Given the description of an element on the screen output the (x, y) to click on. 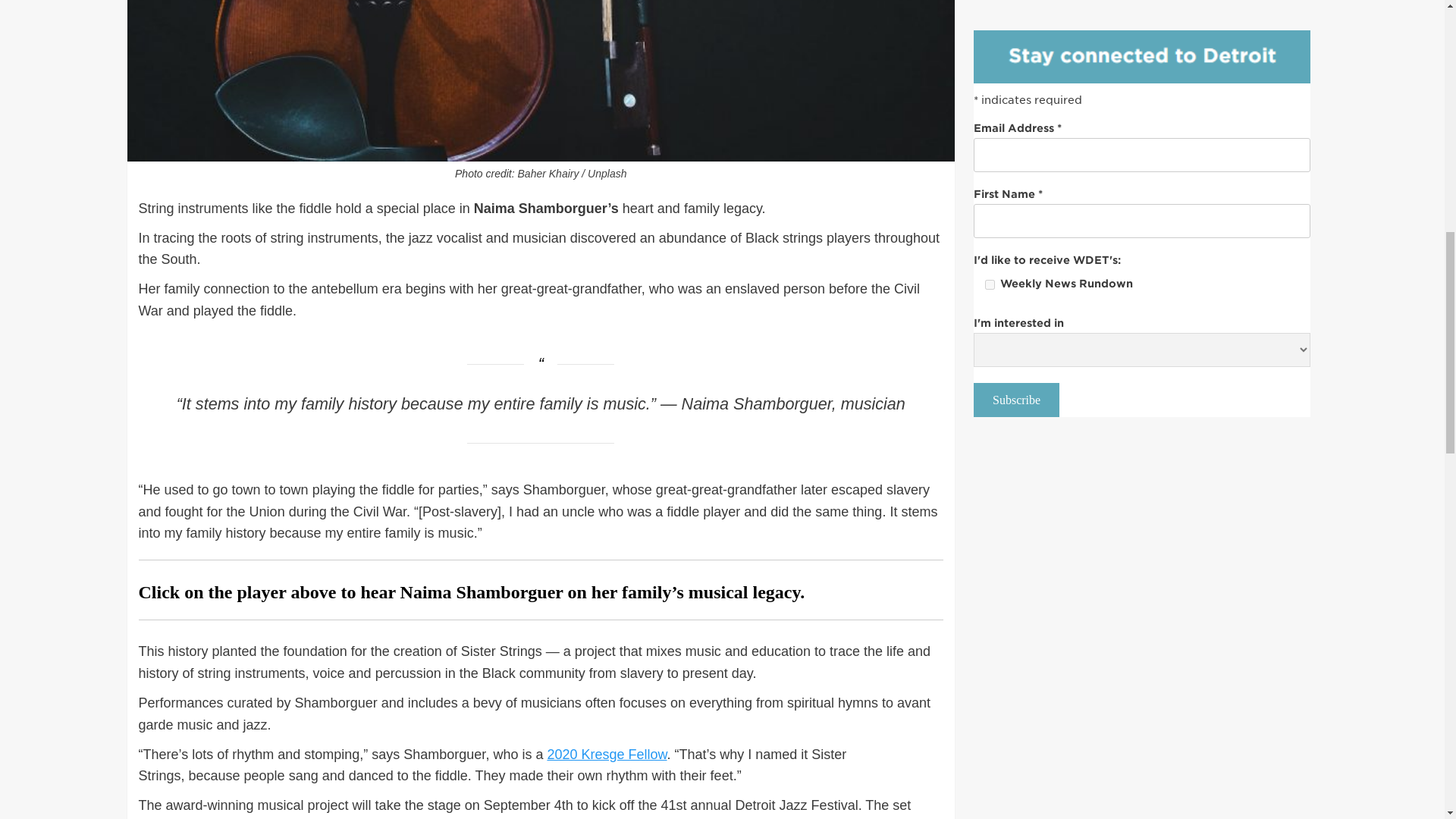
3rd party ad content (1142, 27)
